Given the description of an element on the screen output the (x, y) to click on. 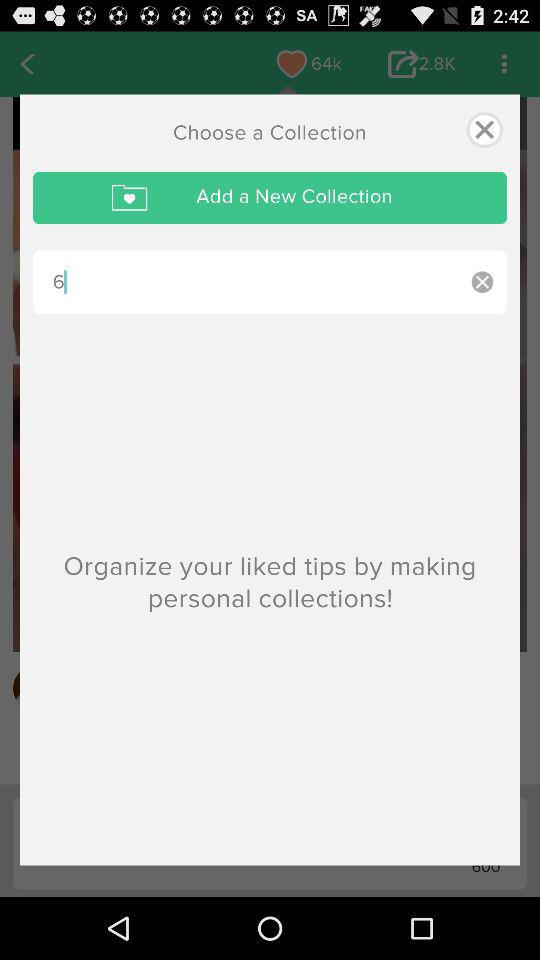
choose the add a new (270, 197)
